Given the description of an element on the screen output the (x, y) to click on. 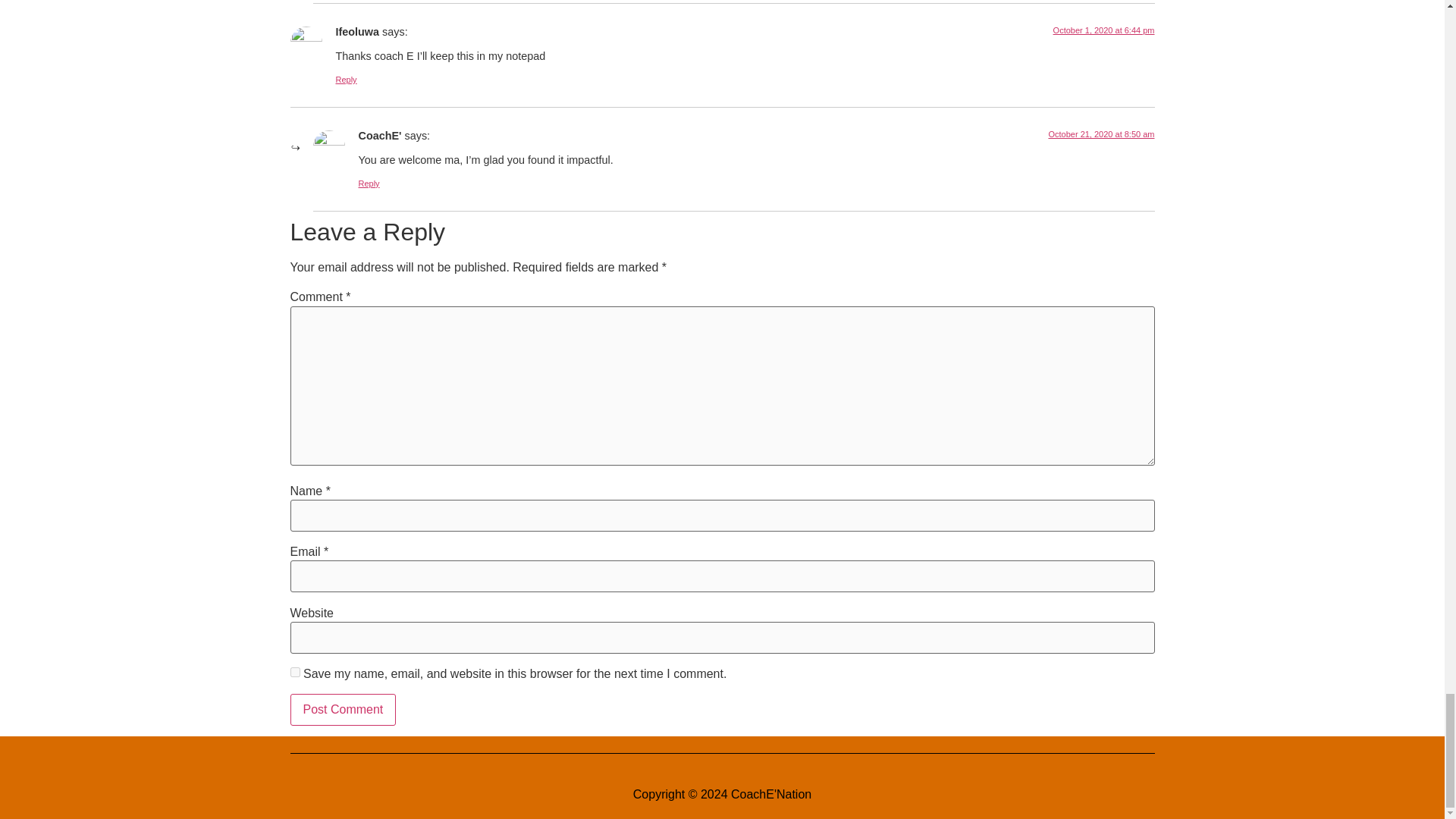
Reply (345, 79)
Post Comment (342, 709)
October 21, 2020 at 8:50 am (1101, 133)
yes (294, 672)
Reply (368, 183)
Post Comment (342, 709)
October 1, 2020 at 6:44 pm (1103, 30)
